Given the description of an element on the screen output the (x, y) to click on. 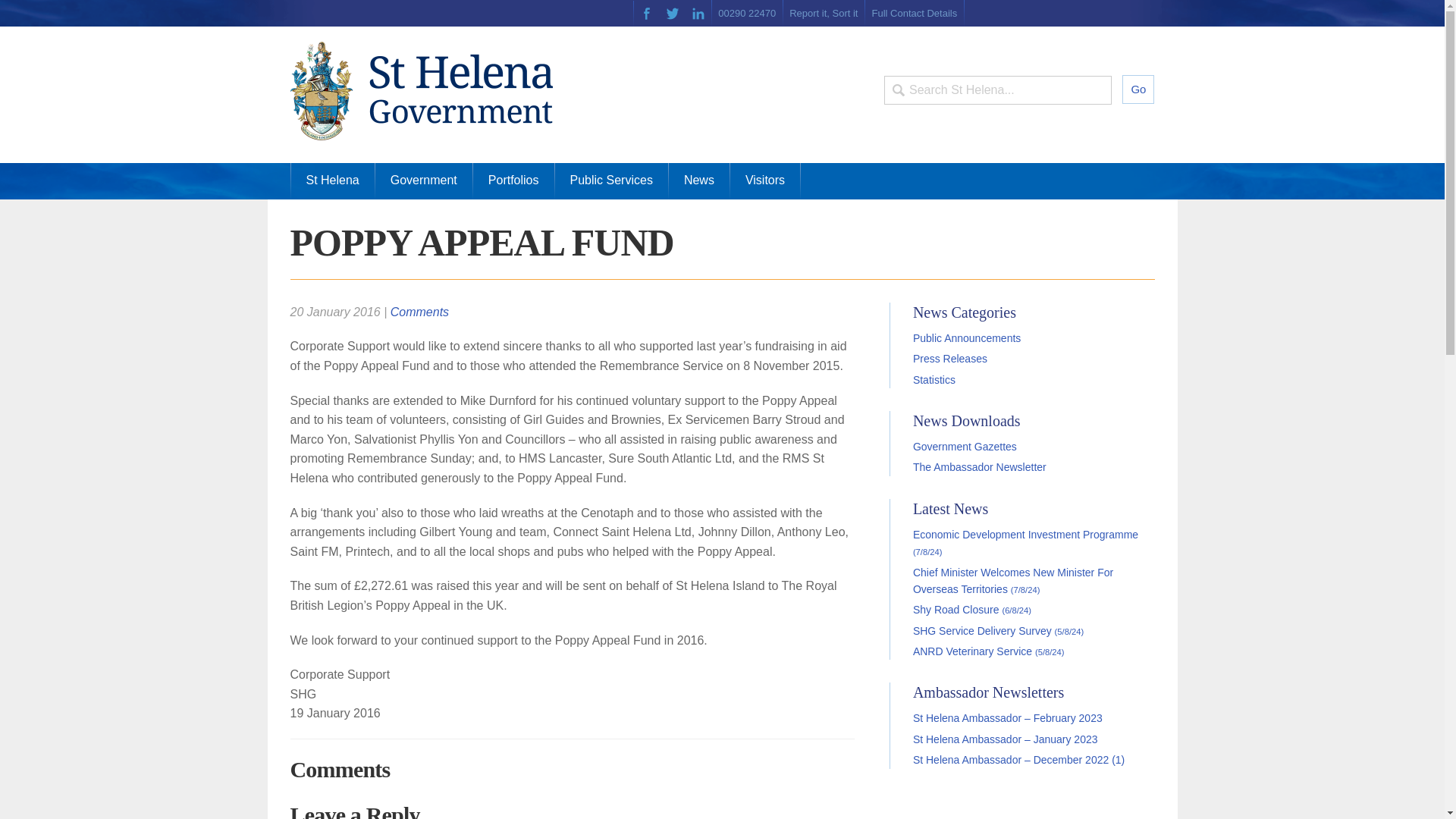
Go (1138, 89)
Permanent Link to Shy Road Closure (971, 609)
Permanent Link to ANRD Veterinary Service (988, 651)
Permanent Link to SHG Service Delivery Survey (997, 630)
Go (1138, 89)
Permanent Link to Economic Development Investment Programme (1025, 542)
